Given the description of an element on the screen output the (x, y) to click on. 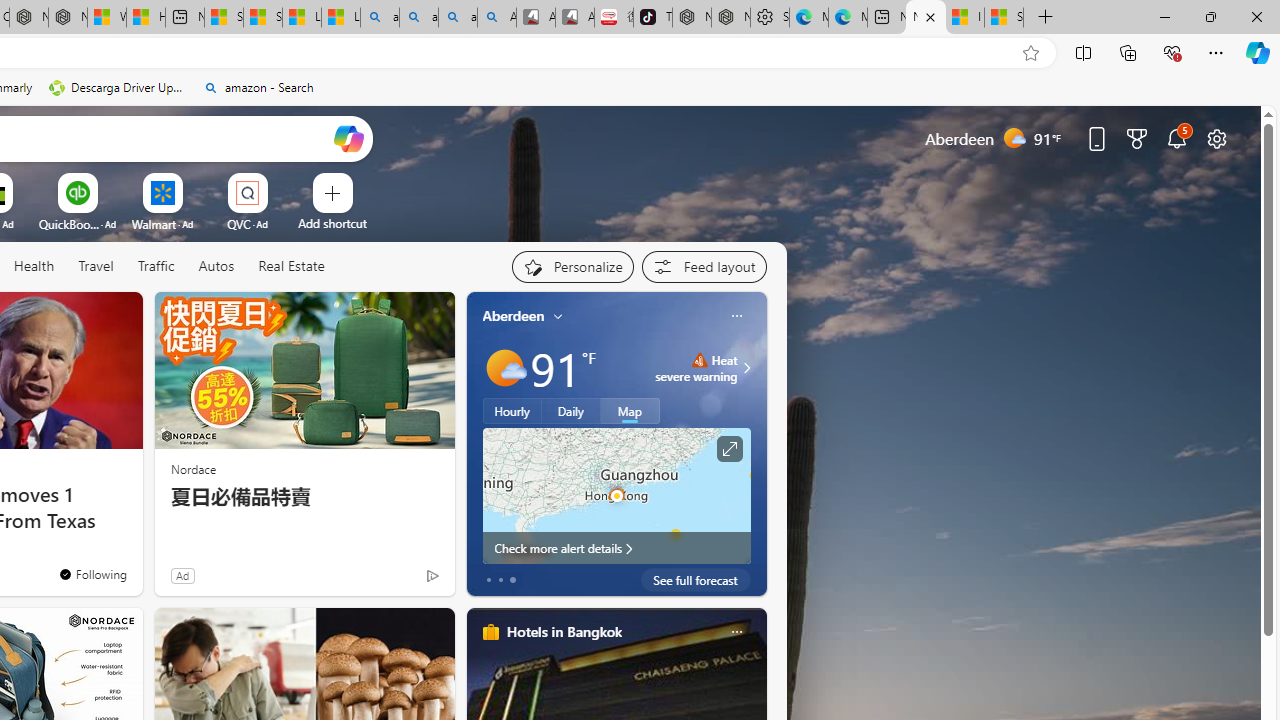
Mostly sunny (504, 368)
Check more alert details (616, 547)
Daily (571, 411)
